Given the description of an element on the screen output the (x, y) to click on. 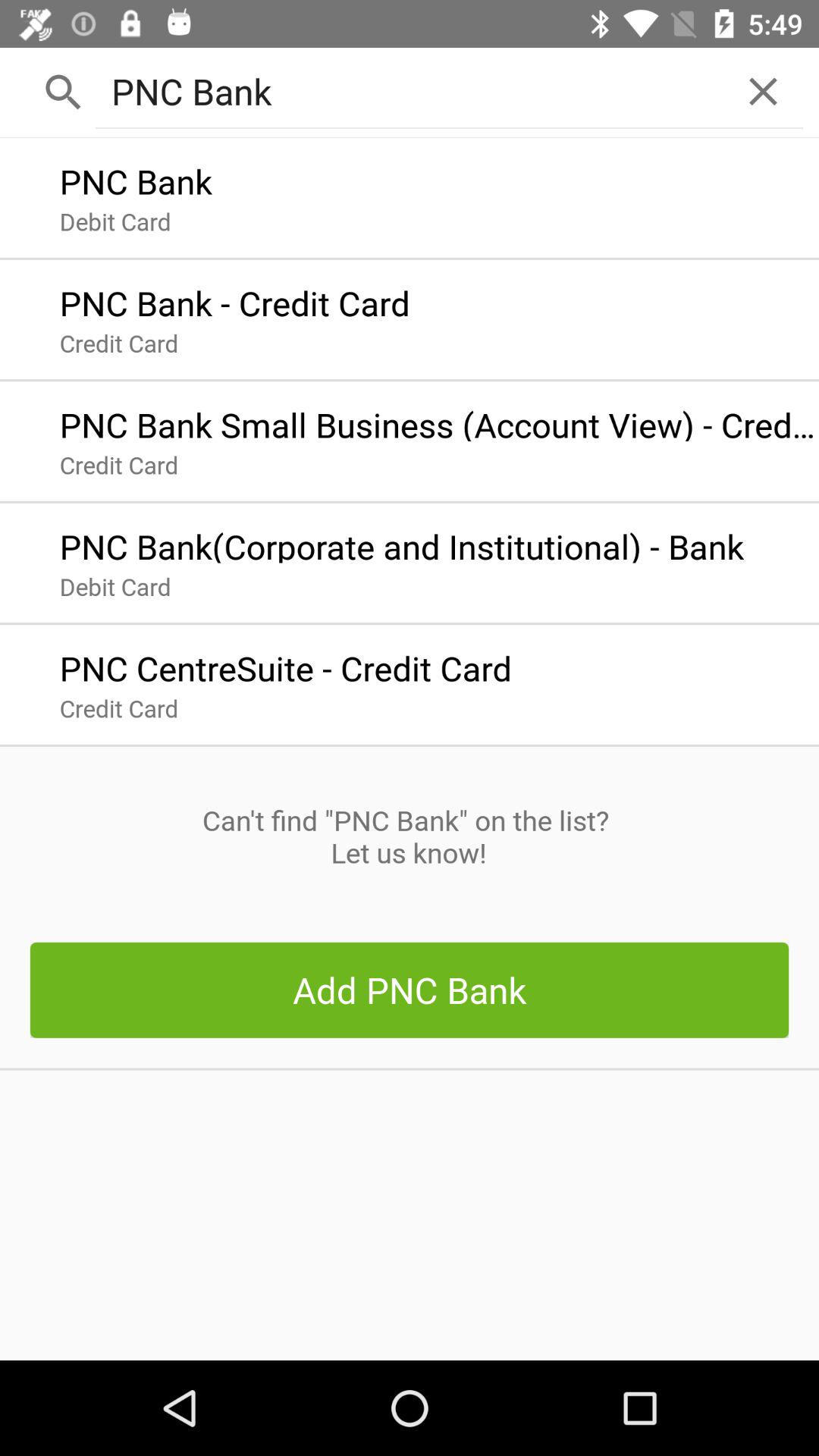
open app below the debit card app (285, 664)
